Given the description of an element on the screen output the (x, y) to click on. 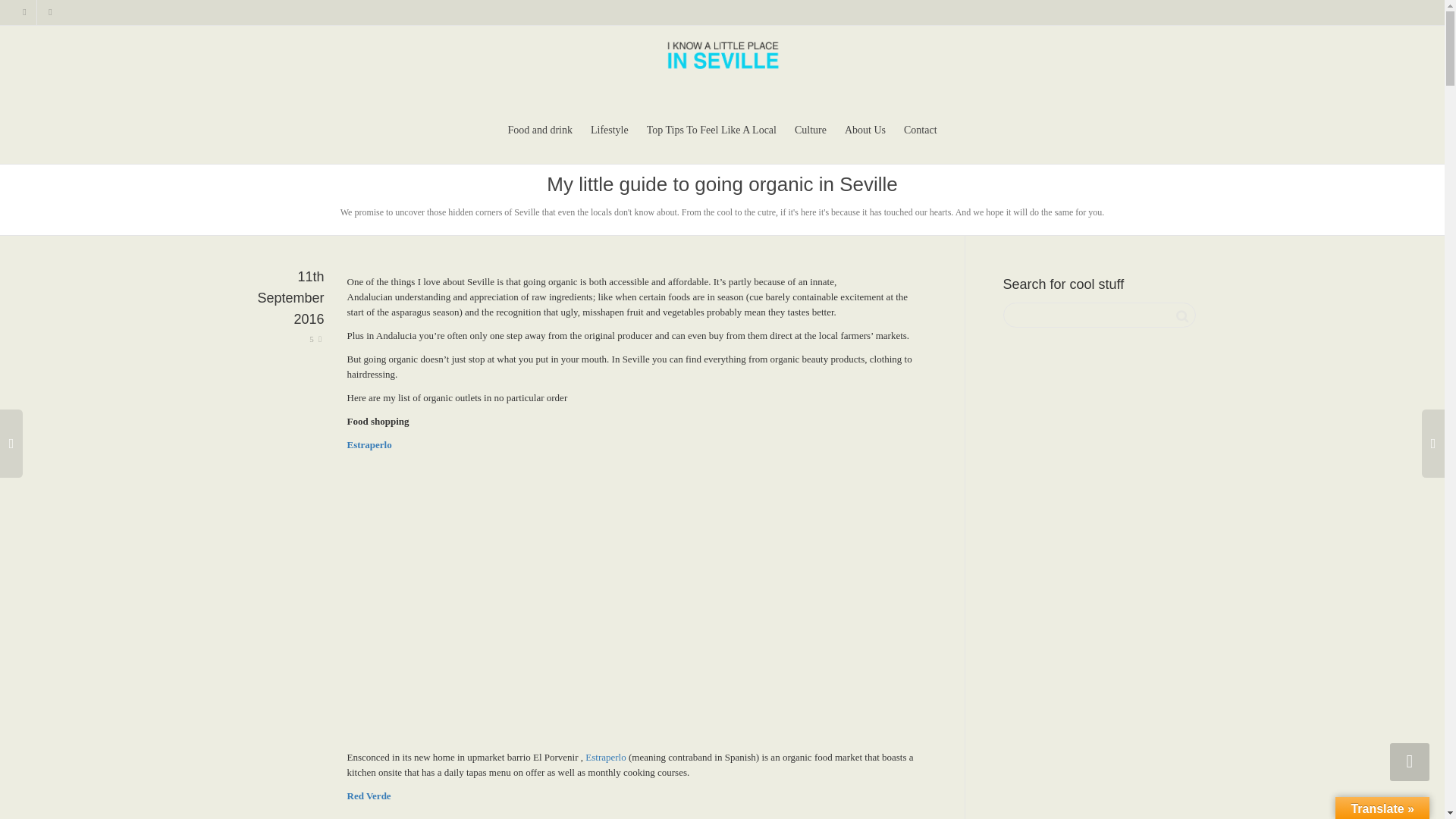
Estraperlo (606, 756)
5 (315, 338)
Estraperlo (369, 444)
Red (356, 795)
Top Tips To Feel Like A Local (711, 130)
11th September 2016 (286, 320)
Verde (378, 795)
Top Tips To Feel Like A Local (711, 130)
Food and drink (539, 130)
Search (1181, 315)
